Given the description of an element on the screen output the (x, y) to click on. 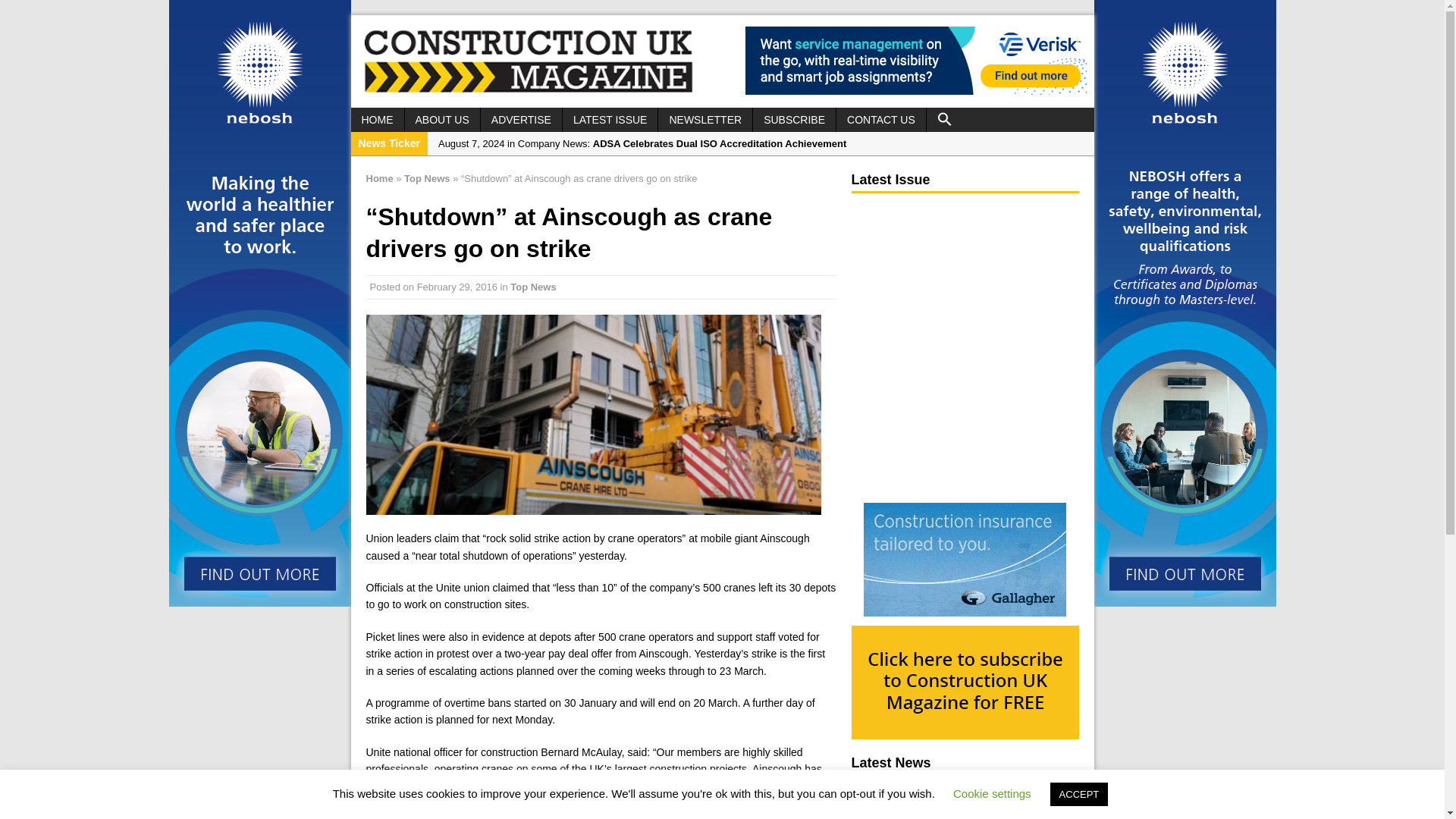
ABOUT US (442, 119)
Top News (426, 178)
CONTACT US (880, 119)
HOME (376, 119)
Ainscough Crane (593, 414)
NEWSLETTER (705, 119)
Construction UK Magazine (528, 91)
ADSA Celebrates Dual ISO Accreditation Achievement (760, 143)
